Given the description of an element on the screen output the (x, y) to click on. 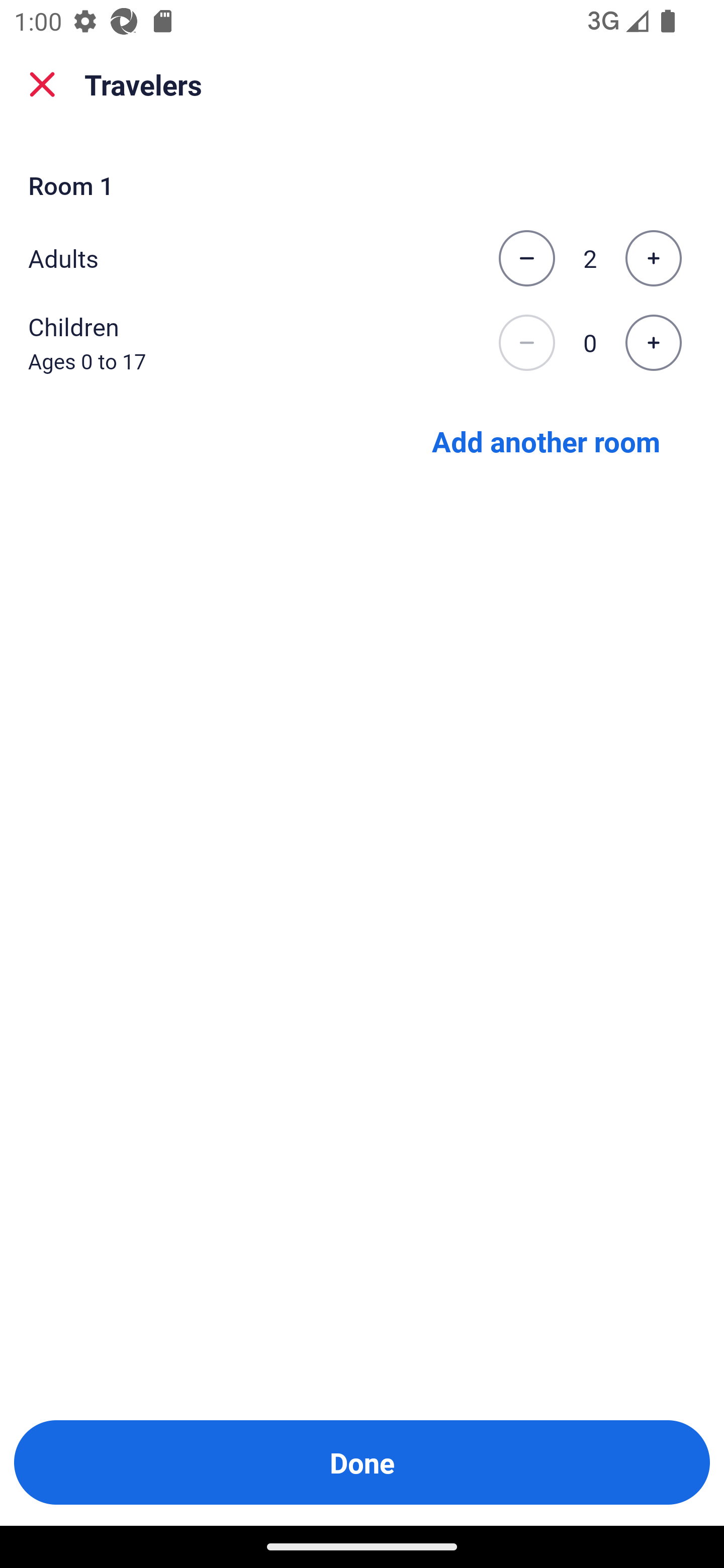
close (42, 84)
Decrease the number of adults (526, 258)
Increase the number of adults (653, 258)
Decrease the number of children (526, 343)
Increase the number of children (653, 343)
Add another room (545, 440)
Done (361, 1462)
